Given the description of an element on the screen output the (x, y) to click on. 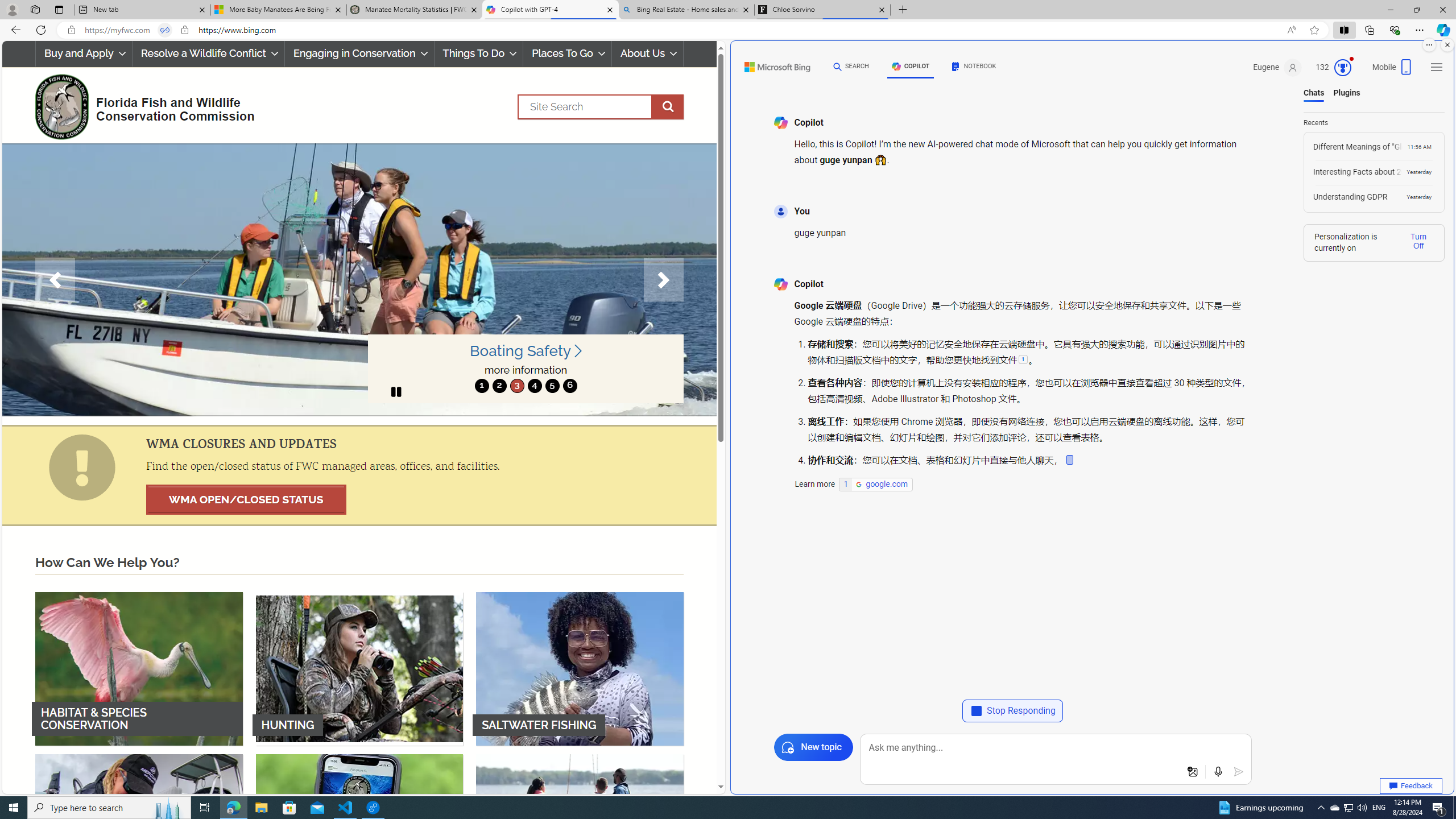
FWC Logo (61, 106)
Chats (1313, 92)
slider pause button (396, 391)
HABITAT & SPECIES CONSERVATION (138, 668)
carousel image link (359, 279)
move to slide 2 (499, 385)
Stop Responding (1012, 710)
5 (551, 385)
Close split screen. (1447, 45)
